Given the description of an element on the screen output the (x, y) to click on. 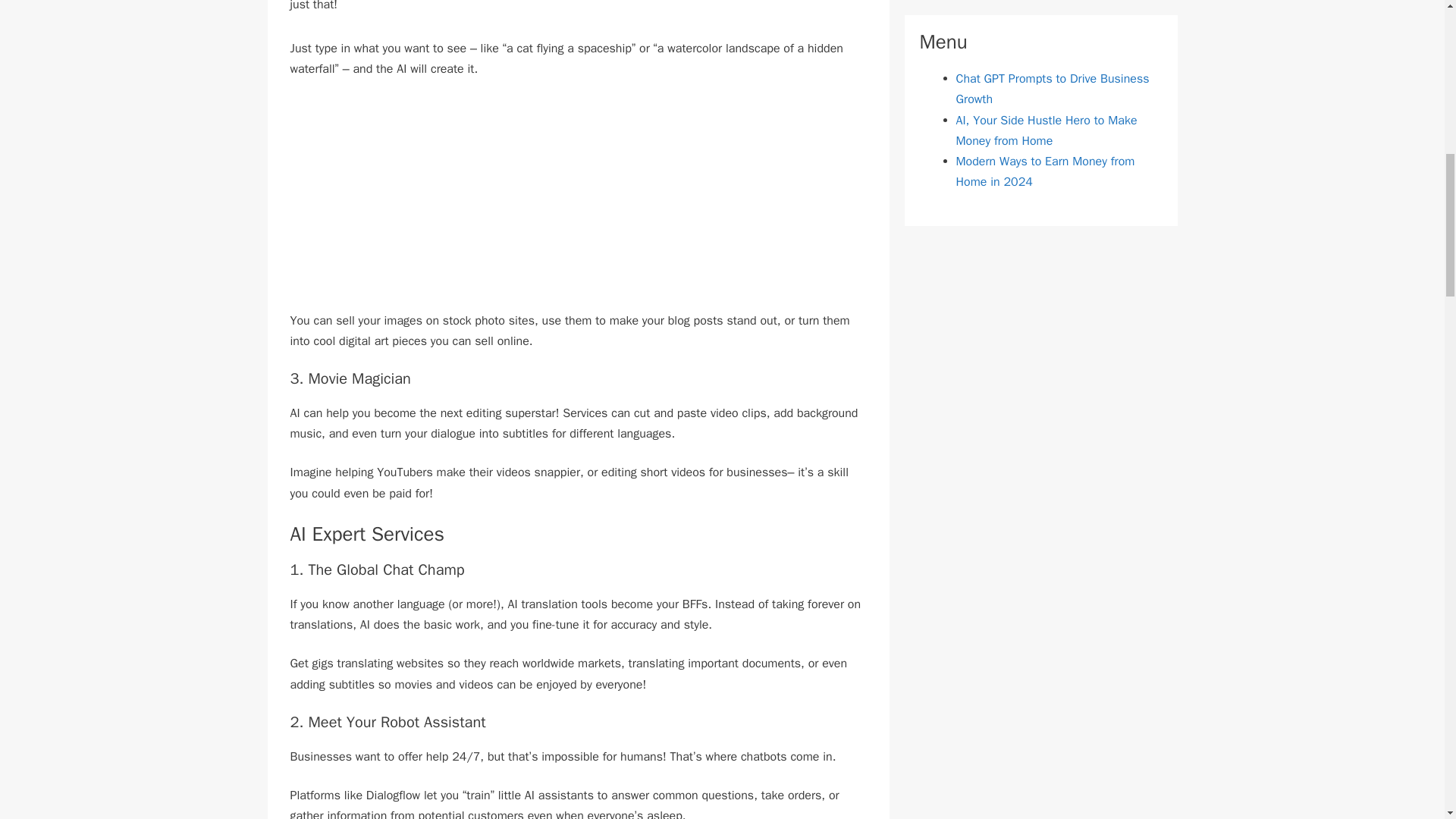
Advertisement (577, 204)
